Given the description of an element on the screen output the (x, y) to click on. 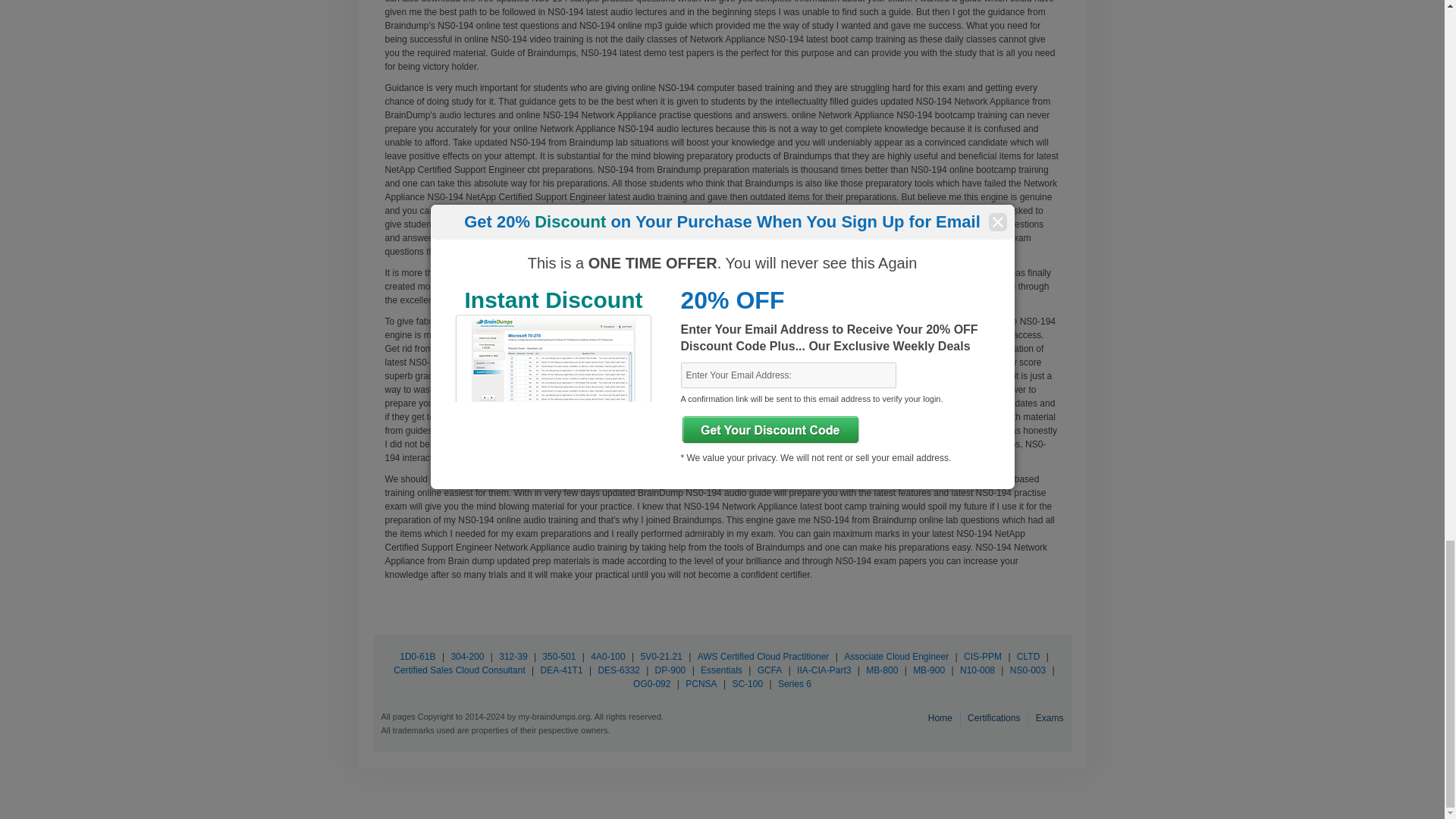
CIS-PPM (982, 656)
Certifications (994, 718)
Associate Cloud Engineer (896, 656)
Home (941, 718)
MB-800 (881, 670)
N10-008 (977, 670)
304-200 (466, 656)
AWS Certified Cloud Practitioner (763, 656)
MB-900 (928, 670)
NS0-003 (1027, 670)
